Given the description of an element on the screen output the (x, y) to click on. 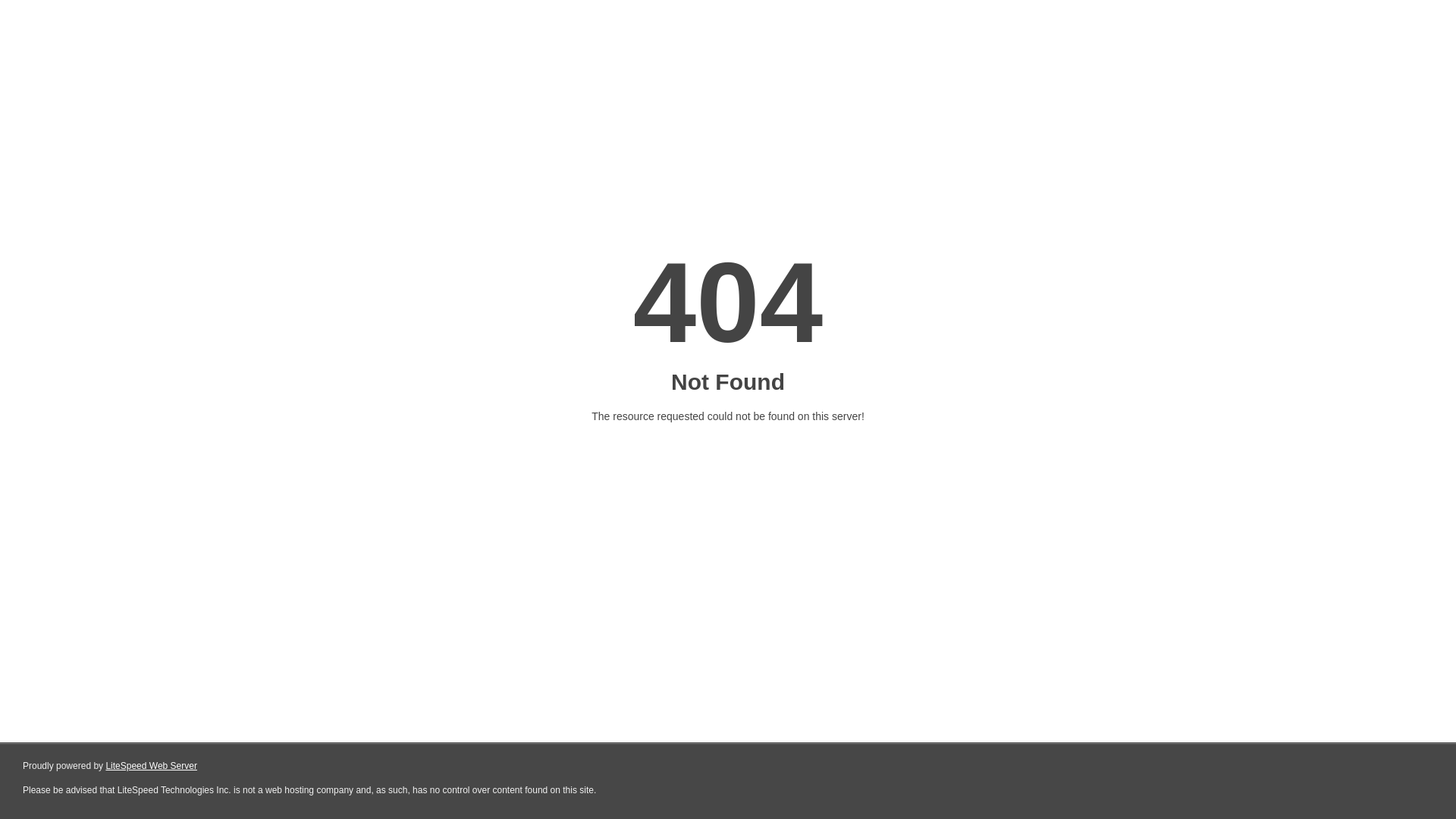
LiteSpeed Web Server Element type: text (151, 765)
